Given the description of an element on the screen output the (x, y) to click on. 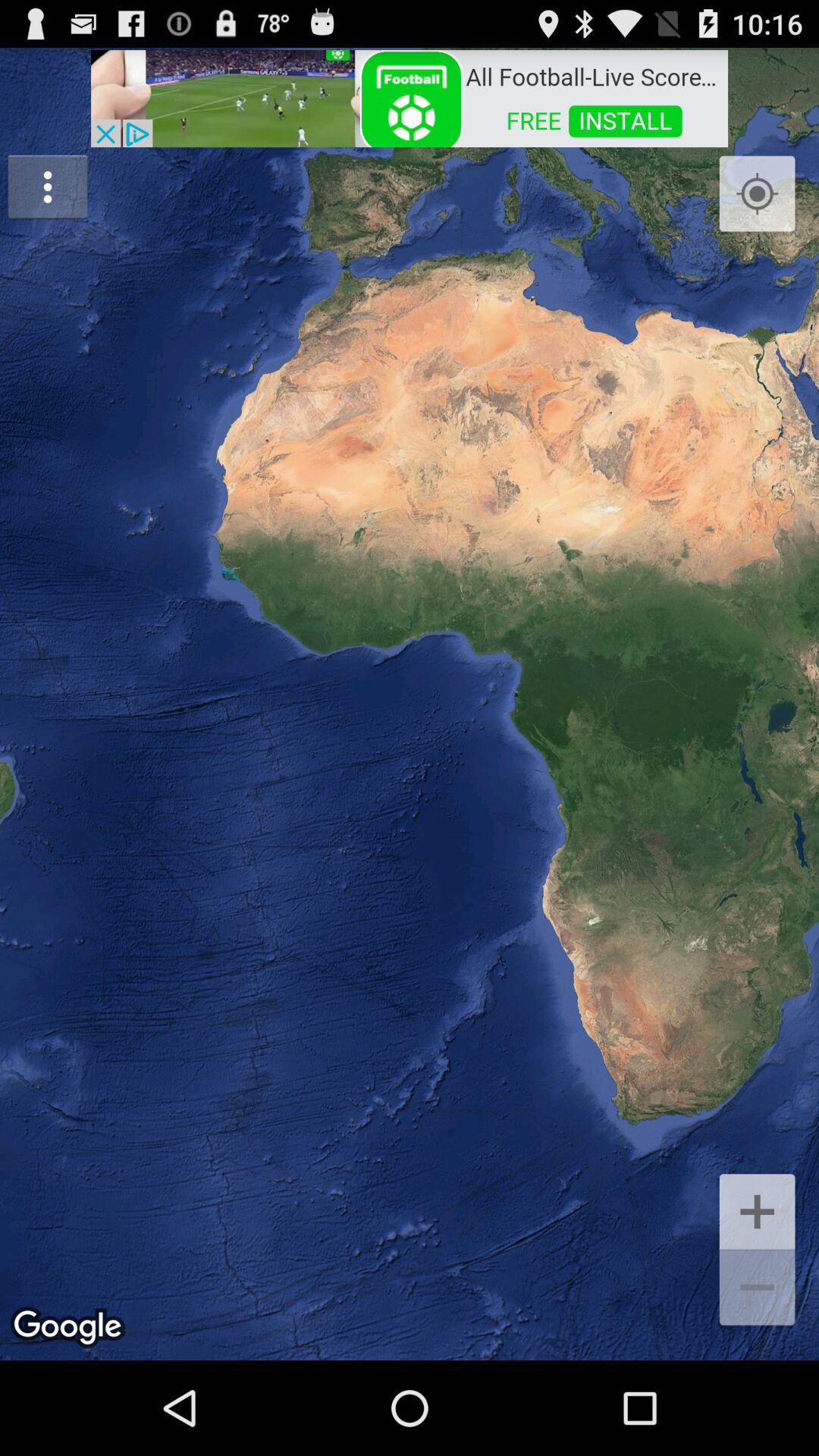
advertisement (409, 97)
